Given the description of an element on the screen output the (x, y) to click on. 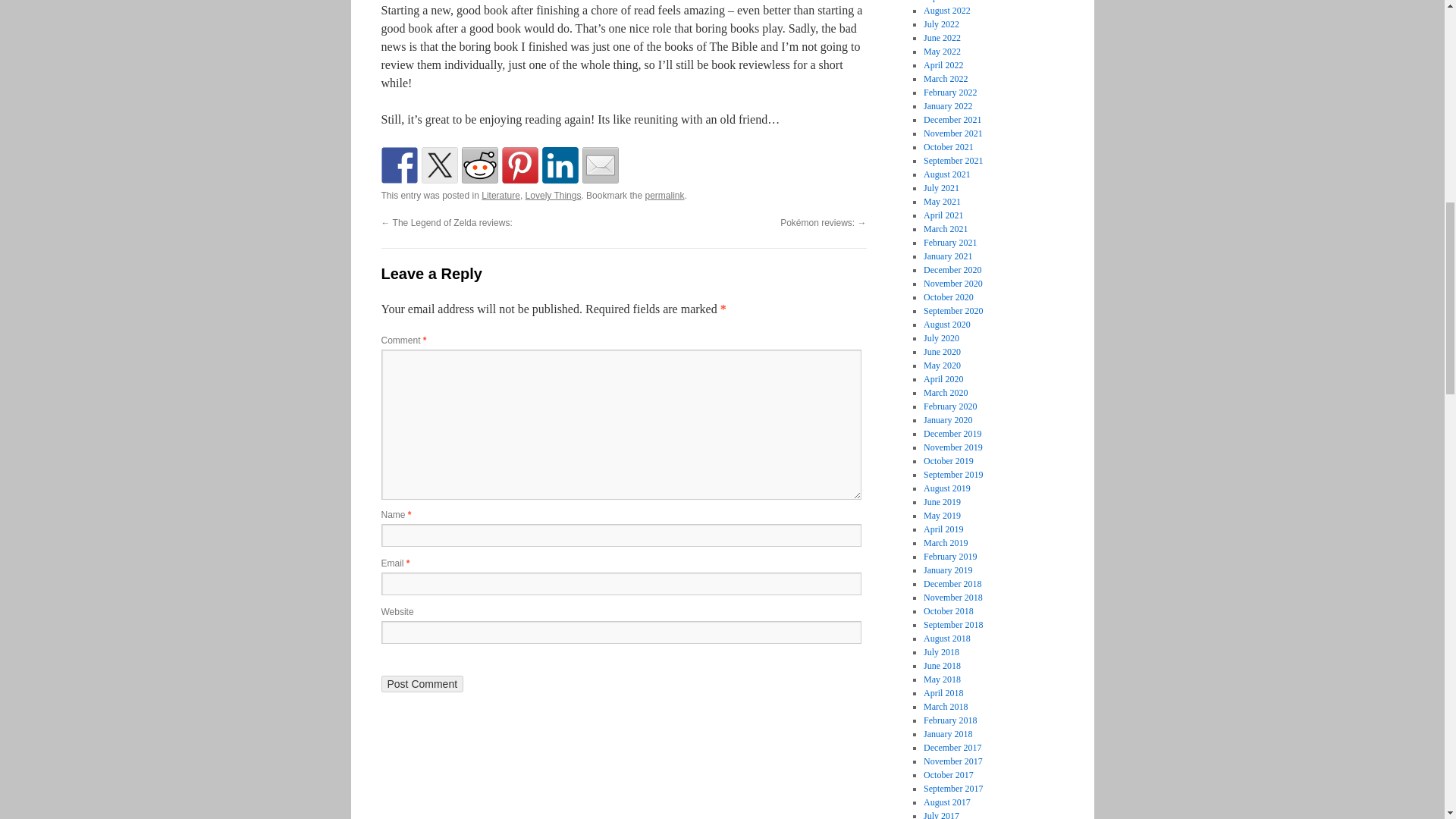
Share on Facebook (398, 165)
permalink (664, 195)
Literature (500, 195)
Post Comment (421, 683)
Share on Linkedin (559, 165)
Lovely Things (552, 195)
Pin it with Pinterest (520, 165)
Share on Twitter (440, 165)
Share by email (600, 165)
Share on Reddit (479, 165)
